Given the description of an element on the screen output the (x, y) to click on. 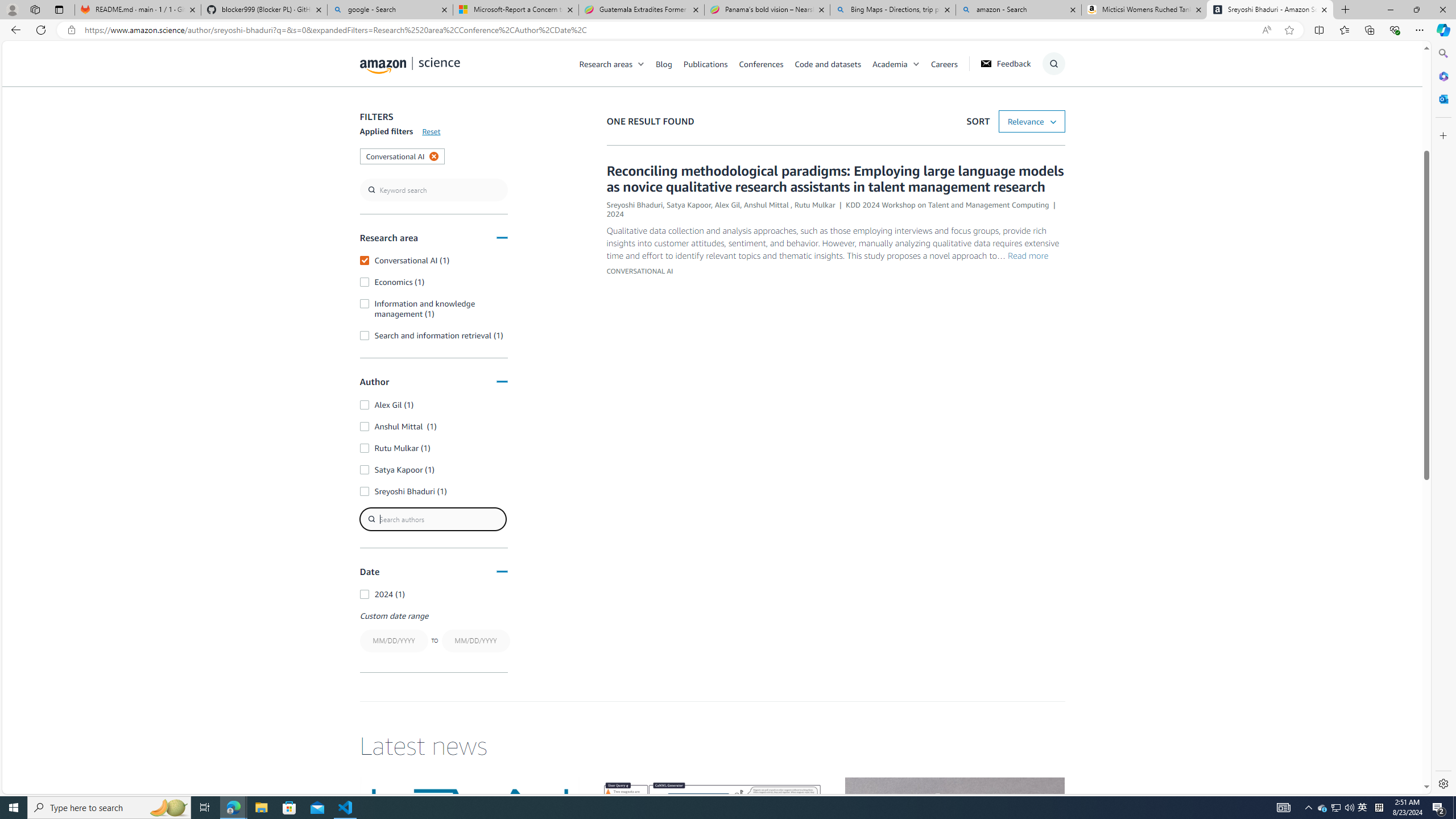
amazon - Search (1018, 9)
Careers (944, 63)
Class: icon-magnify (372, 108)
